Given the description of an element on the screen output the (x, y) to click on. 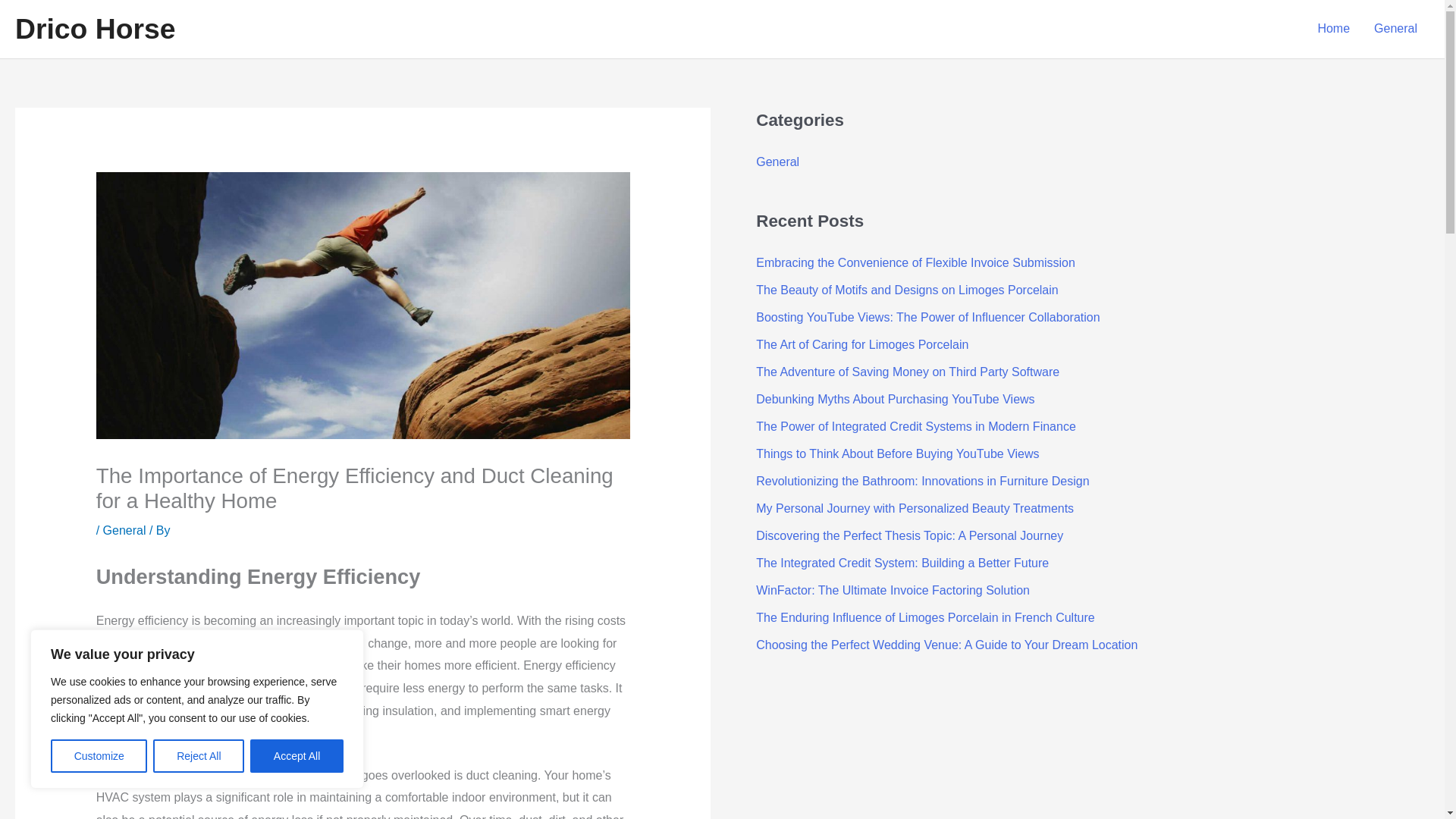
Embracing the Convenience of Flexible Invoice Submission (915, 262)
The Art of Caring for Limoges Porcelain (861, 344)
General (125, 530)
The Adventure of Saving Money on Third Party Software (907, 371)
Customize (98, 756)
Drico Horse (95, 29)
The Beauty of Motifs and Designs on Limoges Porcelain (906, 289)
Home (1332, 28)
Reject All (198, 756)
Accept All (296, 756)
